Given the description of an element on the screen output the (x, y) to click on. 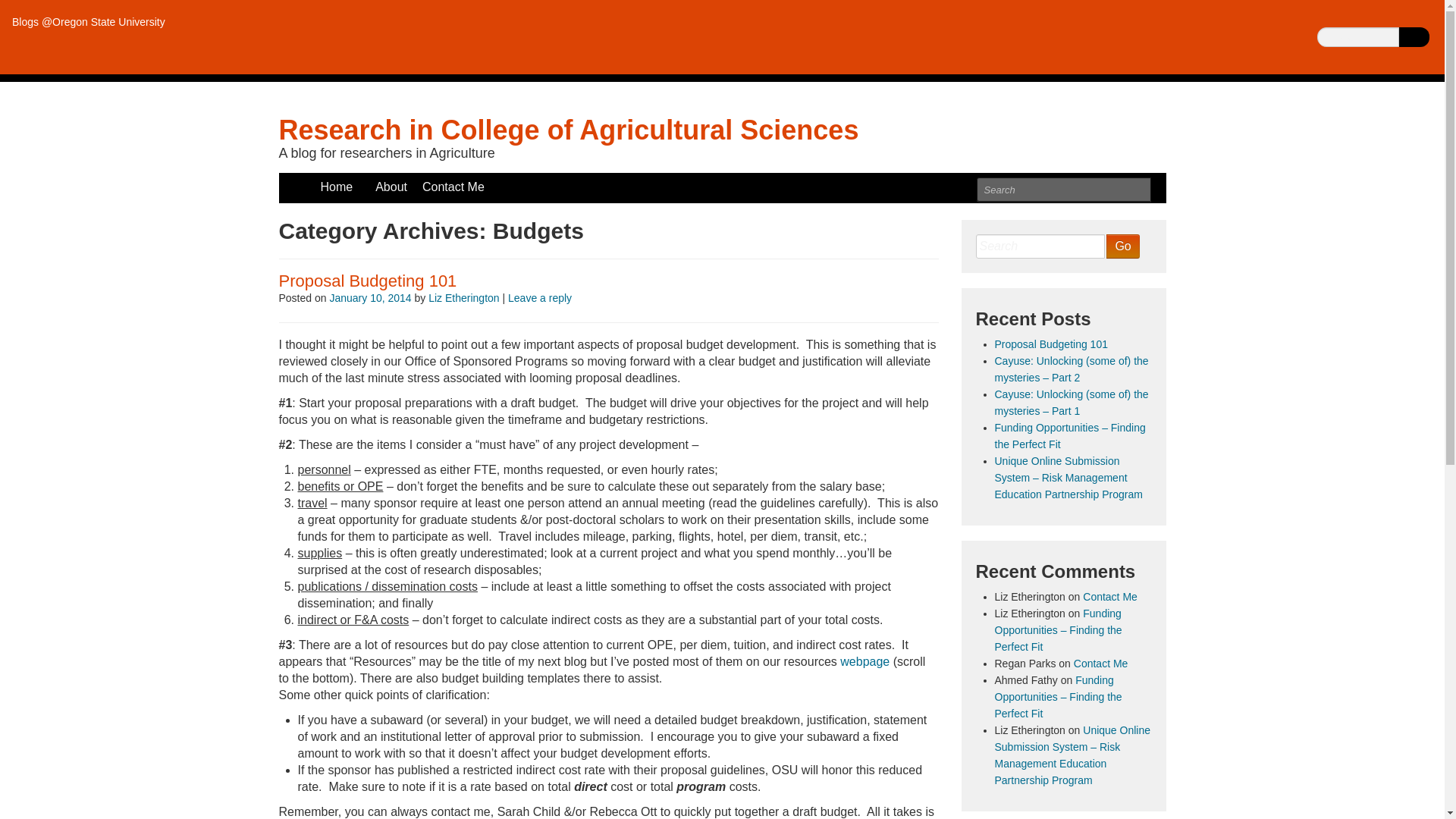
Contact Me (1110, 596)
About (391, 187)
Proposal Budgeting 101 (368, 280)
Contact Me (1101, 663)
Skip to secondary content (349, 180)
Skip to primary content (341, 180)
View all posts by Liz Etherington (463, 297)
Research in College of Agricultural Sciences (569, 129)
Research in College of Agricultural Sciences (569, 129)
Leave a reply (540, 297)
